Given the description of an element on the screen output the (x, y) to click on. 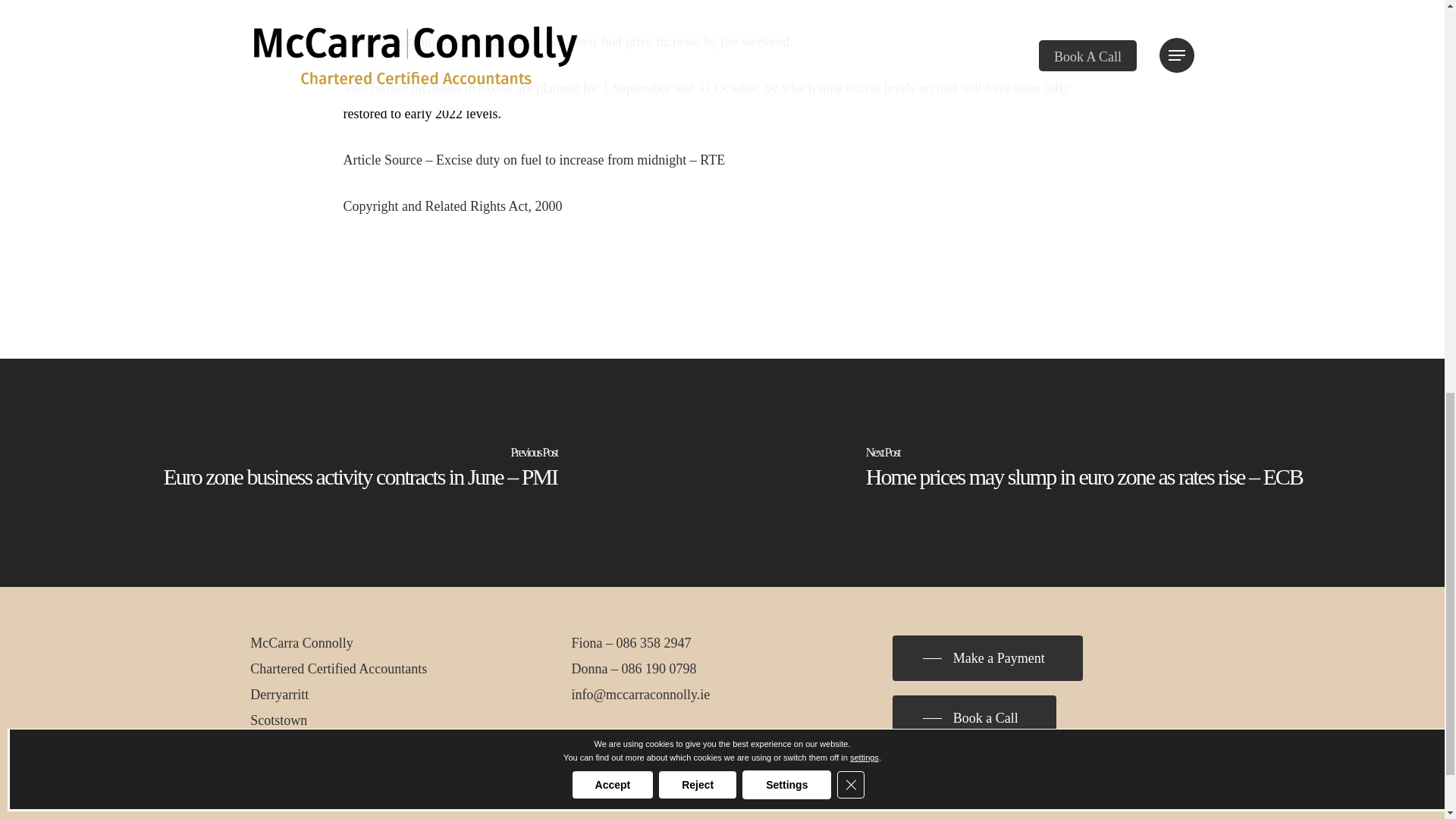
Book a Call (974, 718)
Copyright and Related Rights Act, 2000 (452, 206)
086 358 2947 (653, 642)
086 190 0798 (659, 668)
Make a Payment (987, 657)
